Given the description of an element on the screen output the (x, y) to click on. 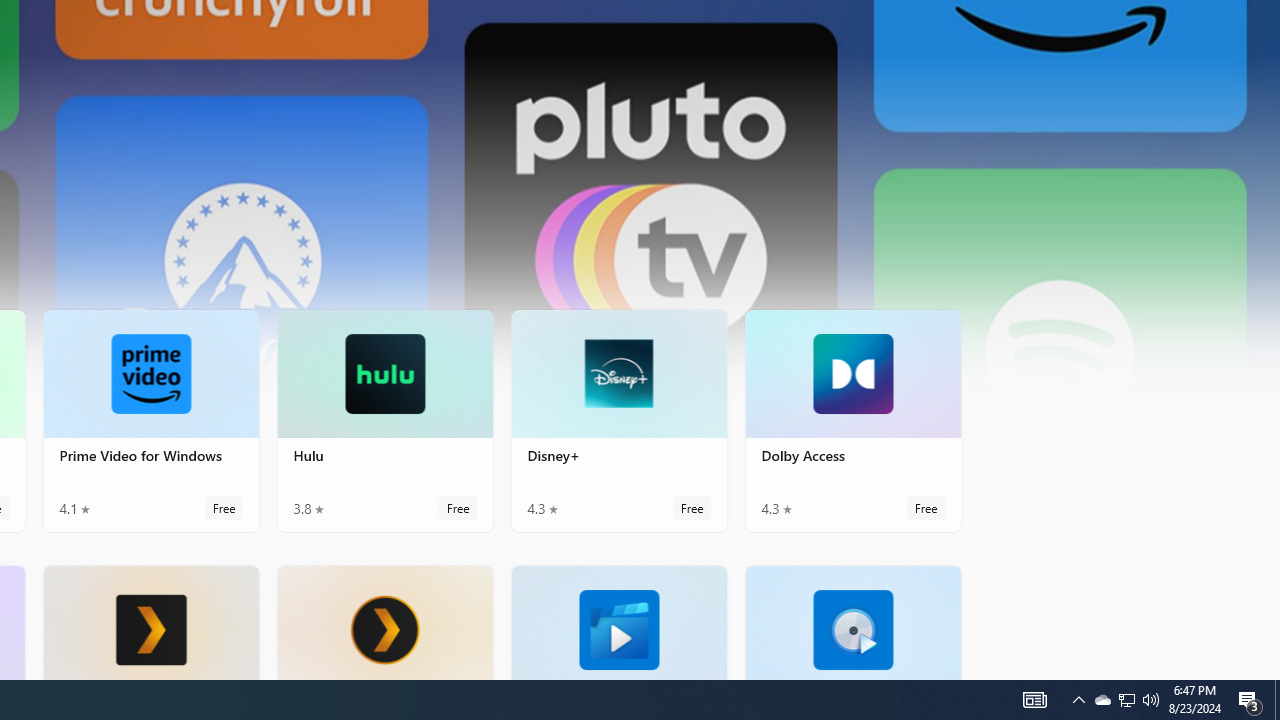
Hulu. Average rating of 3.8 out of five stars. Free   (385, 420)
Disney+. Average rating of 4.3 out of five stars. Free   (618, 420)
